Given the description of an element on the screen output the (x, y) to click on. 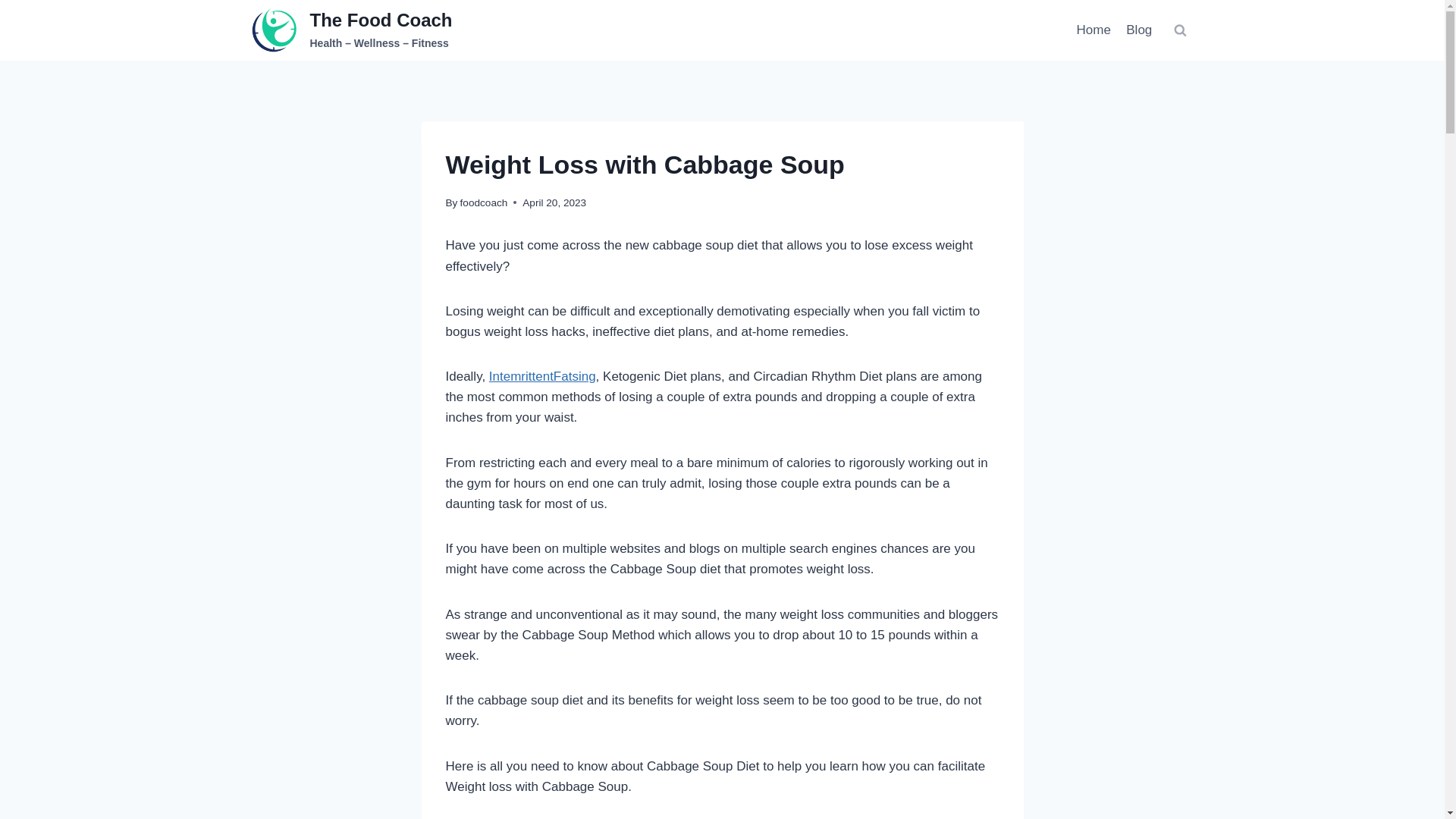
Blog (1138, 30)
Home (1093, 30)
foodcoach (484, 202)
IntemrittentFatsing (542, 376)
